Given the description of an element on the screen output the (x, y) to click on. 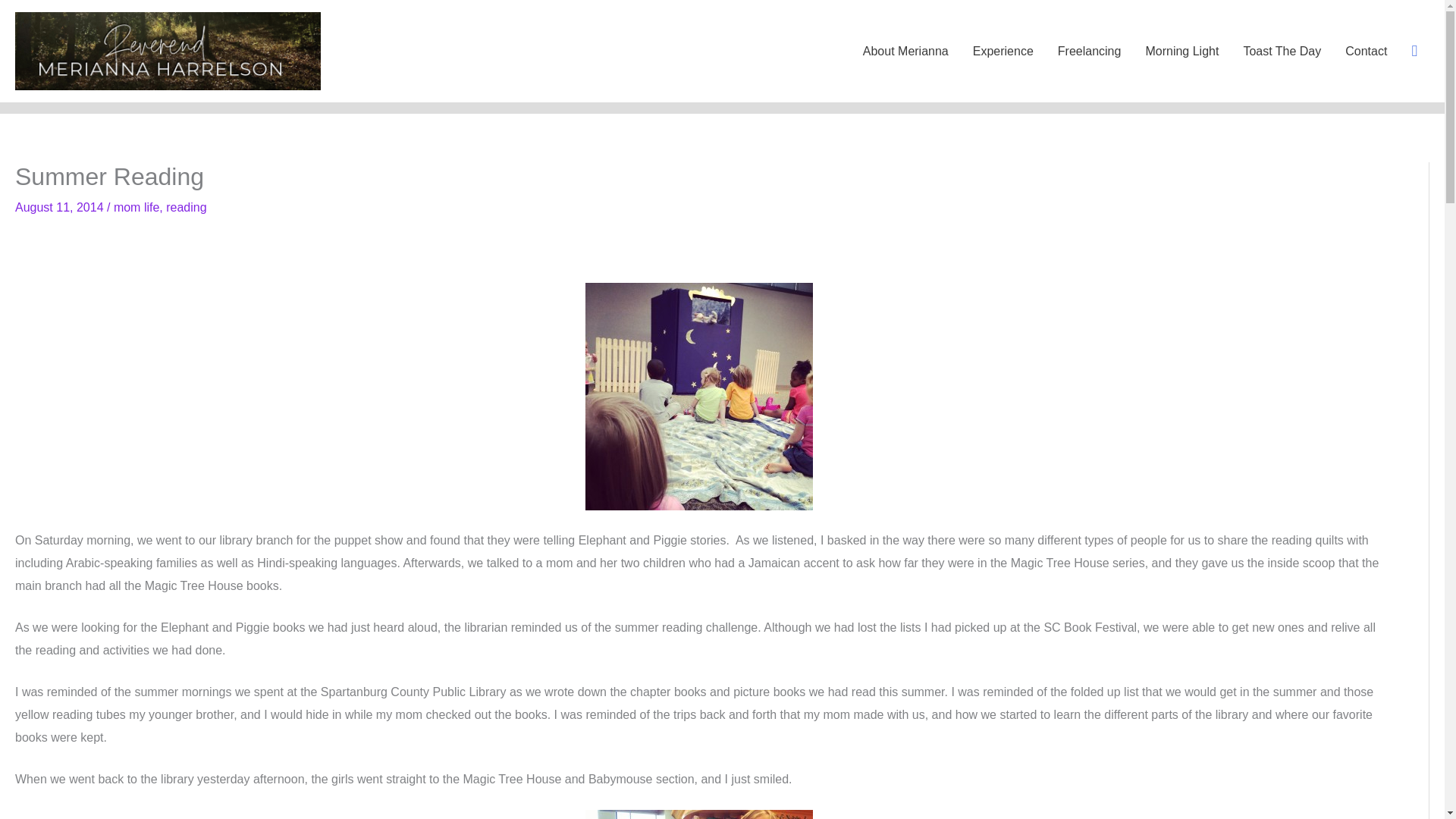
Contact (1366, 51)
Experience (1002, 51)
Search (1413, 50)
Toast The Day (1281, 51)
Morning Light (1181, 51)
reading (185, 206)
About Merianna (905, 51)
Freelancing (1089, 51)
mom life (135, 206)
